Given the description of an element on the screen output the (x, y) to click on. 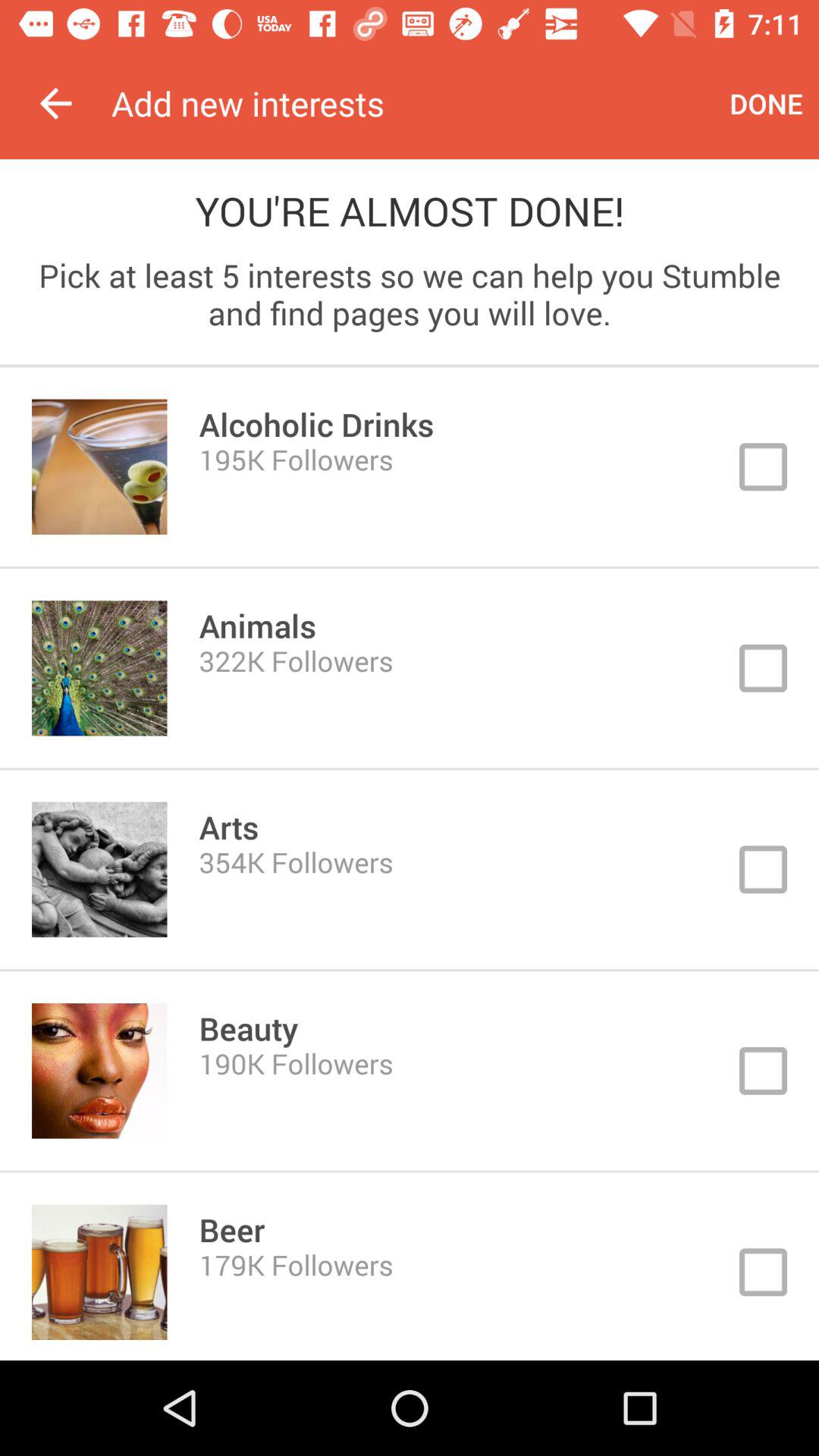
click on box (409, 869)
